Given the description of an element on the screen output the (x, y) to click on. 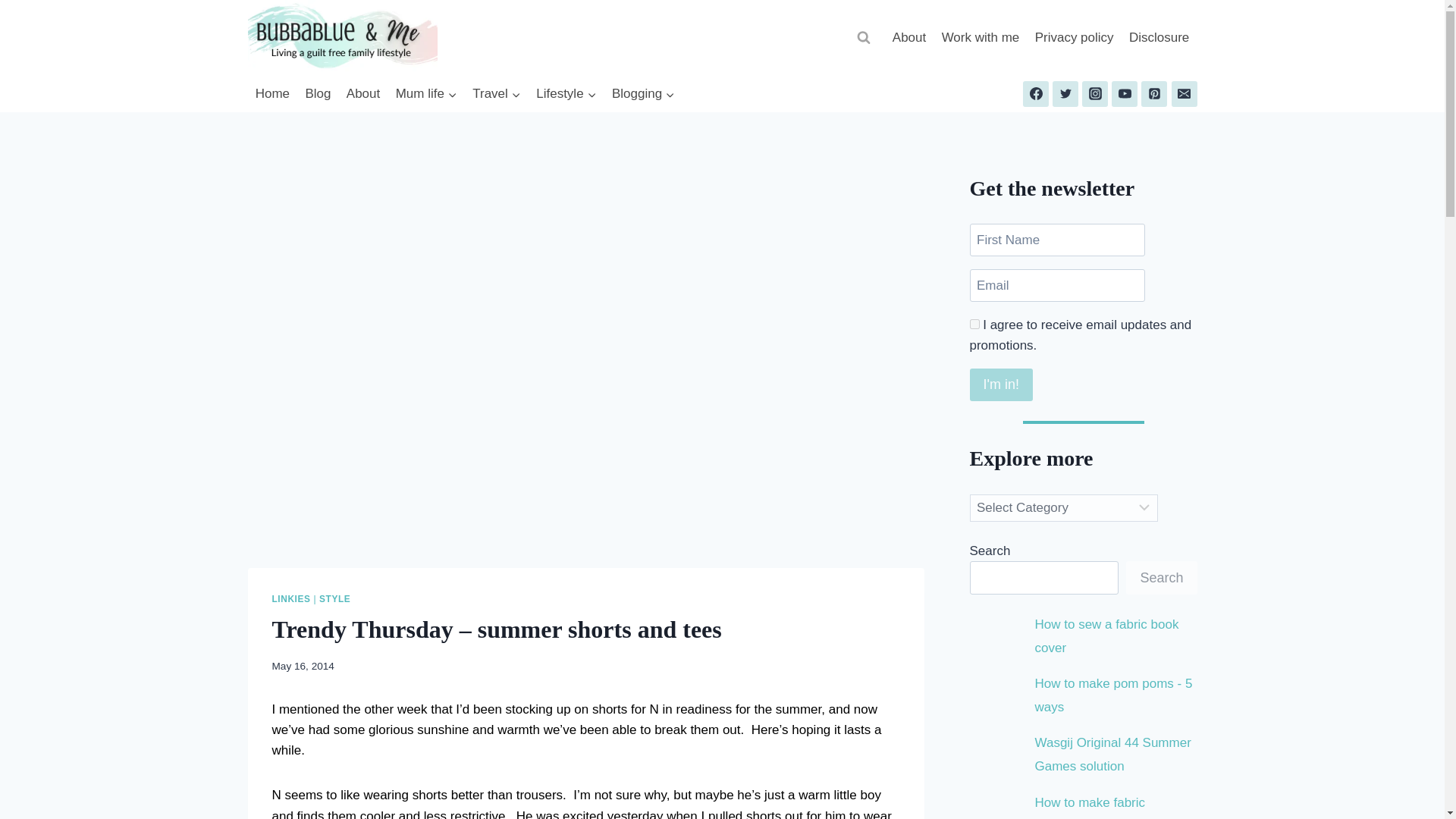
Disclosure (1158, 37)
Home (272, 94)
1 (973, 324)
About (909, 37)
Blog (317, 94)
About (363, 94)
Work with me (979, 37)
How to sew a fabric book cover (1107, 636)
Lifestyle (566, 94)
How to make pom poms - 5 ways (1113, 695)
